Given the description of an element on the screen output the (x, y) to click on. 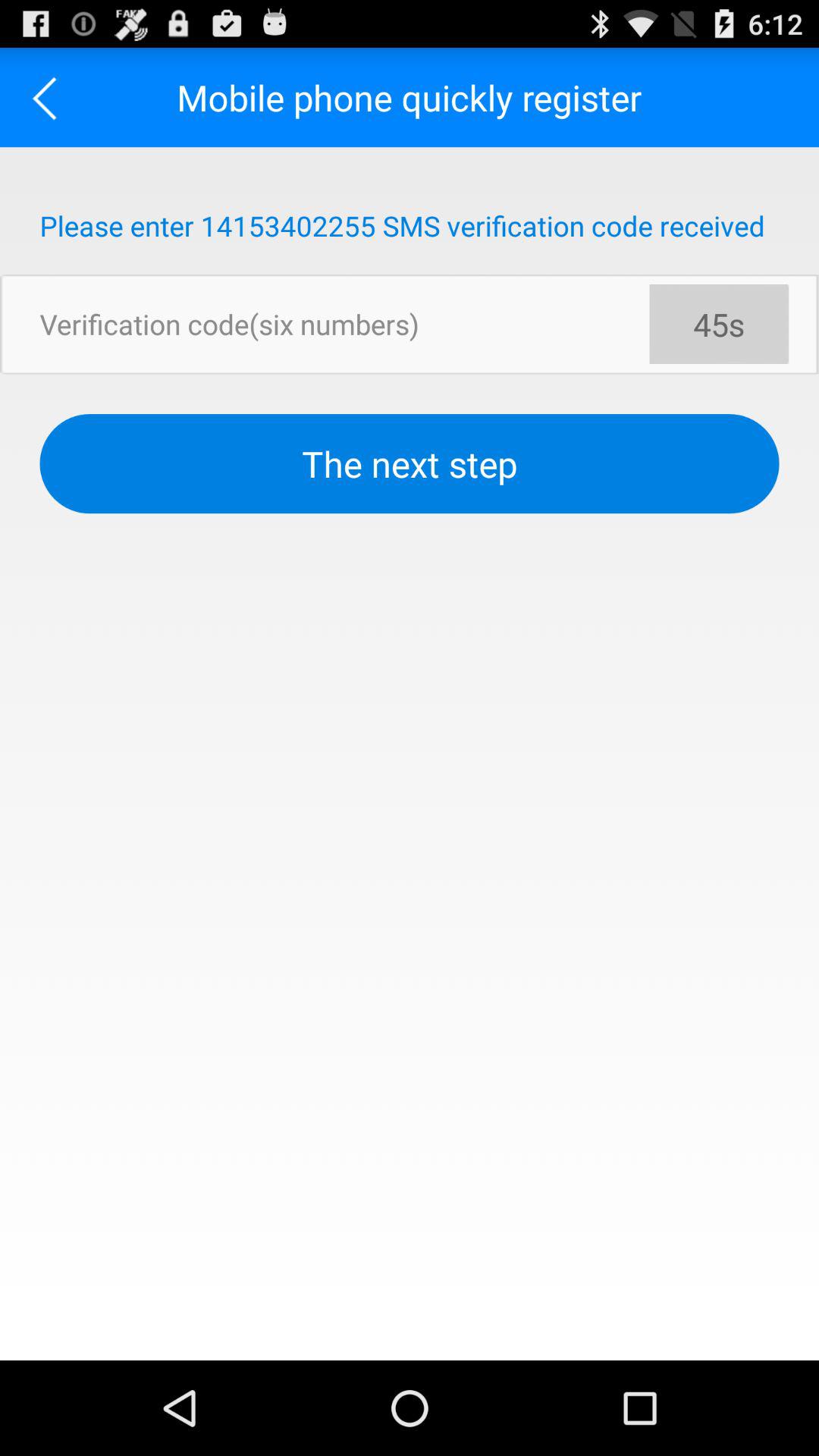
go back (49, 97)
